Given the description of an element on the screen output the (x, y) to click on. 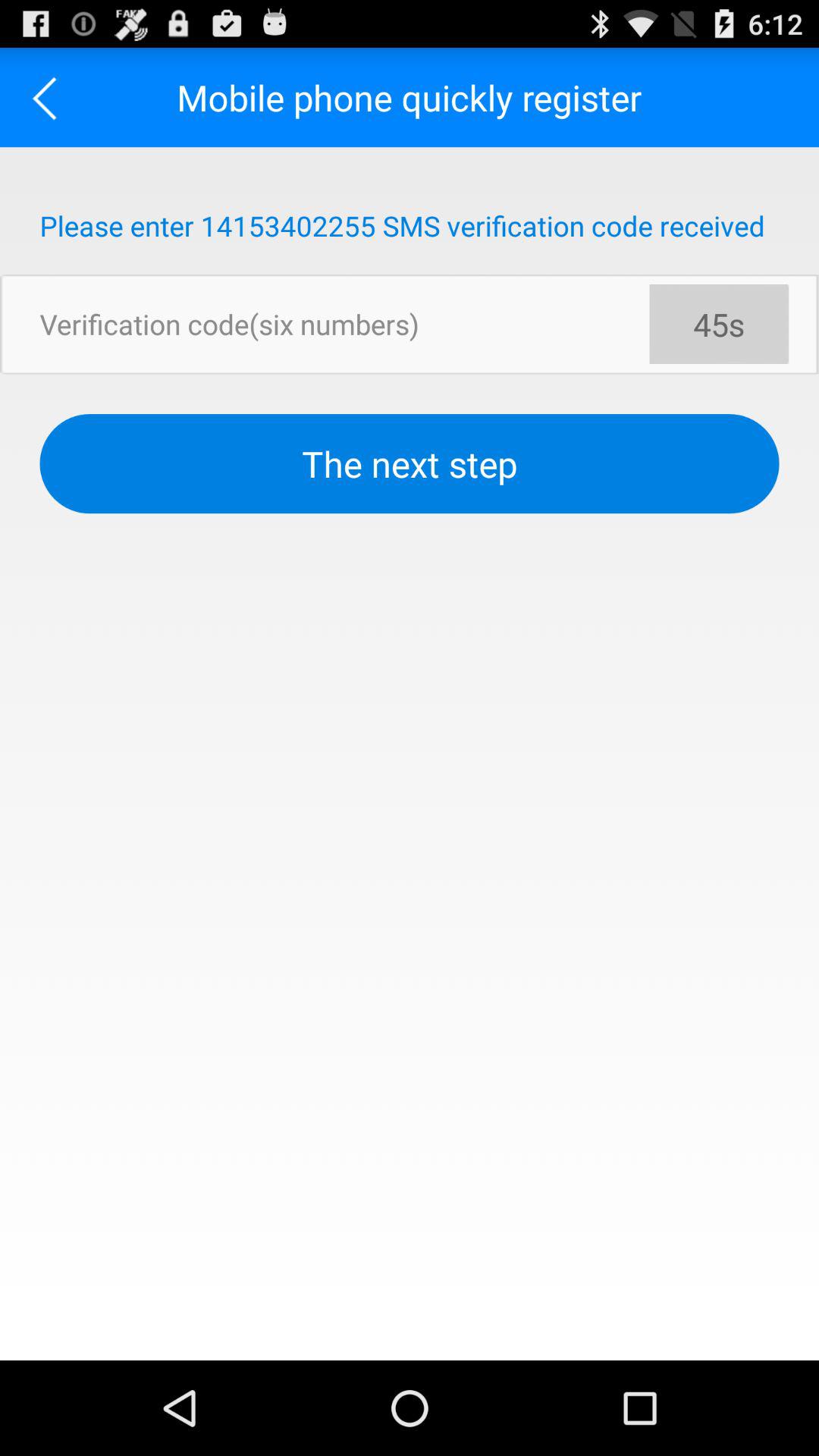
go back (49, 97)
